Given the description of an element on the screen output the (x, y) to click on. 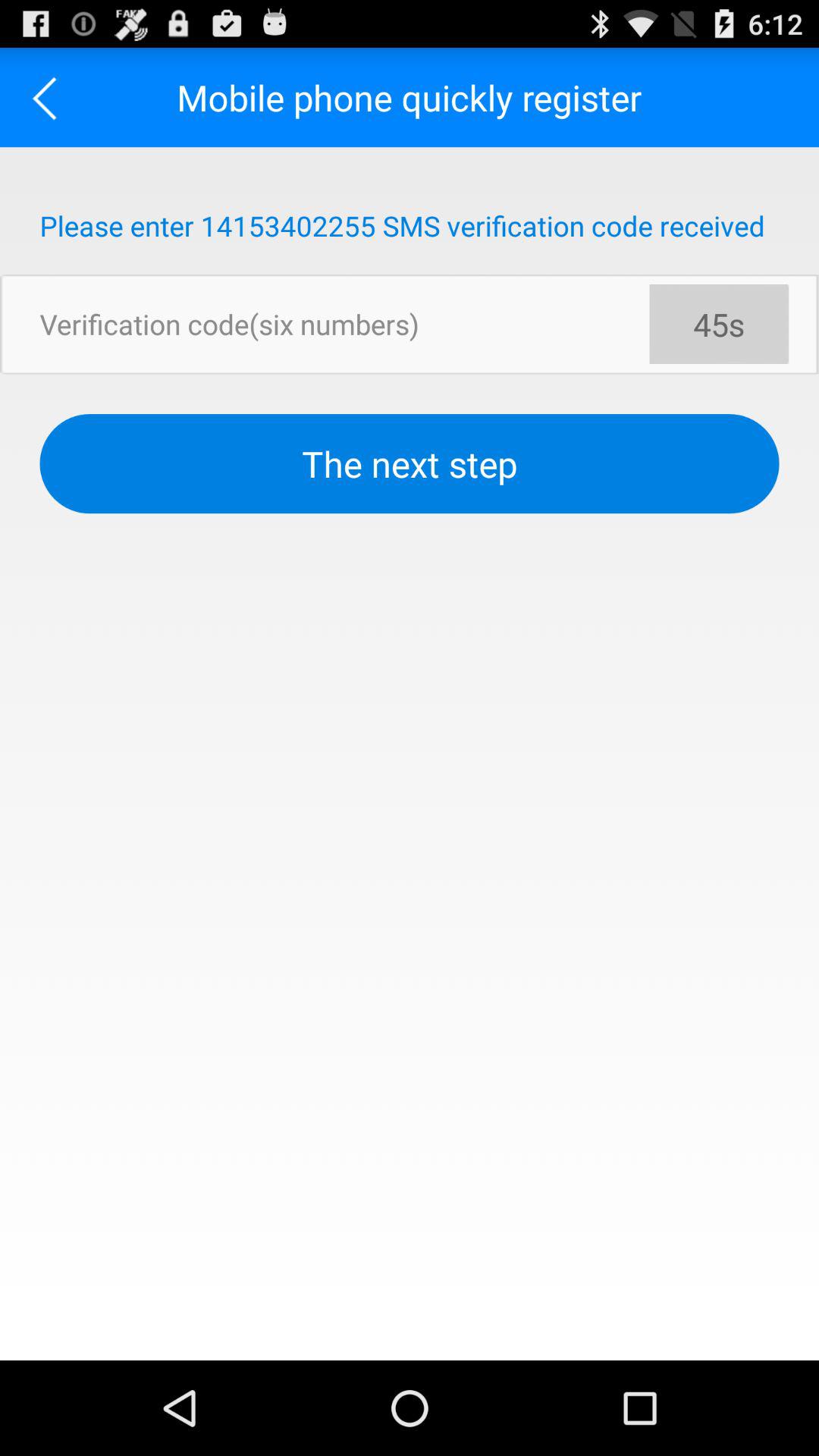
go back (49, 97)
